Given the description of an element on the screen output the (x, y) to click on. 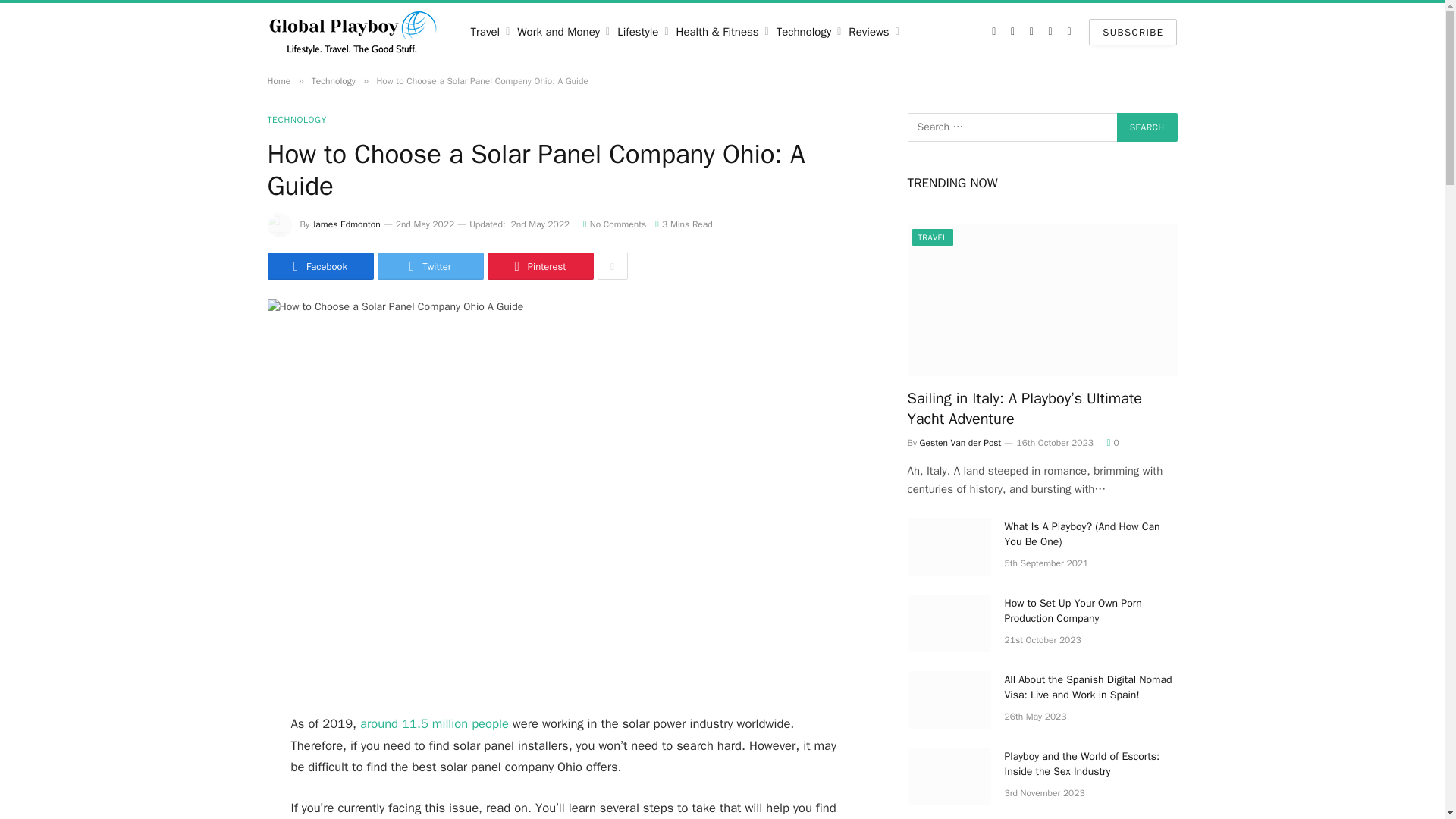
Global Playboy (352, 31)
Search (1146, 127)
Search (1146, 127)
Lifestyle (641, 31)
Work and Money (562, 31)
